Given the description of an element on the screen output the (x, y) to click on. 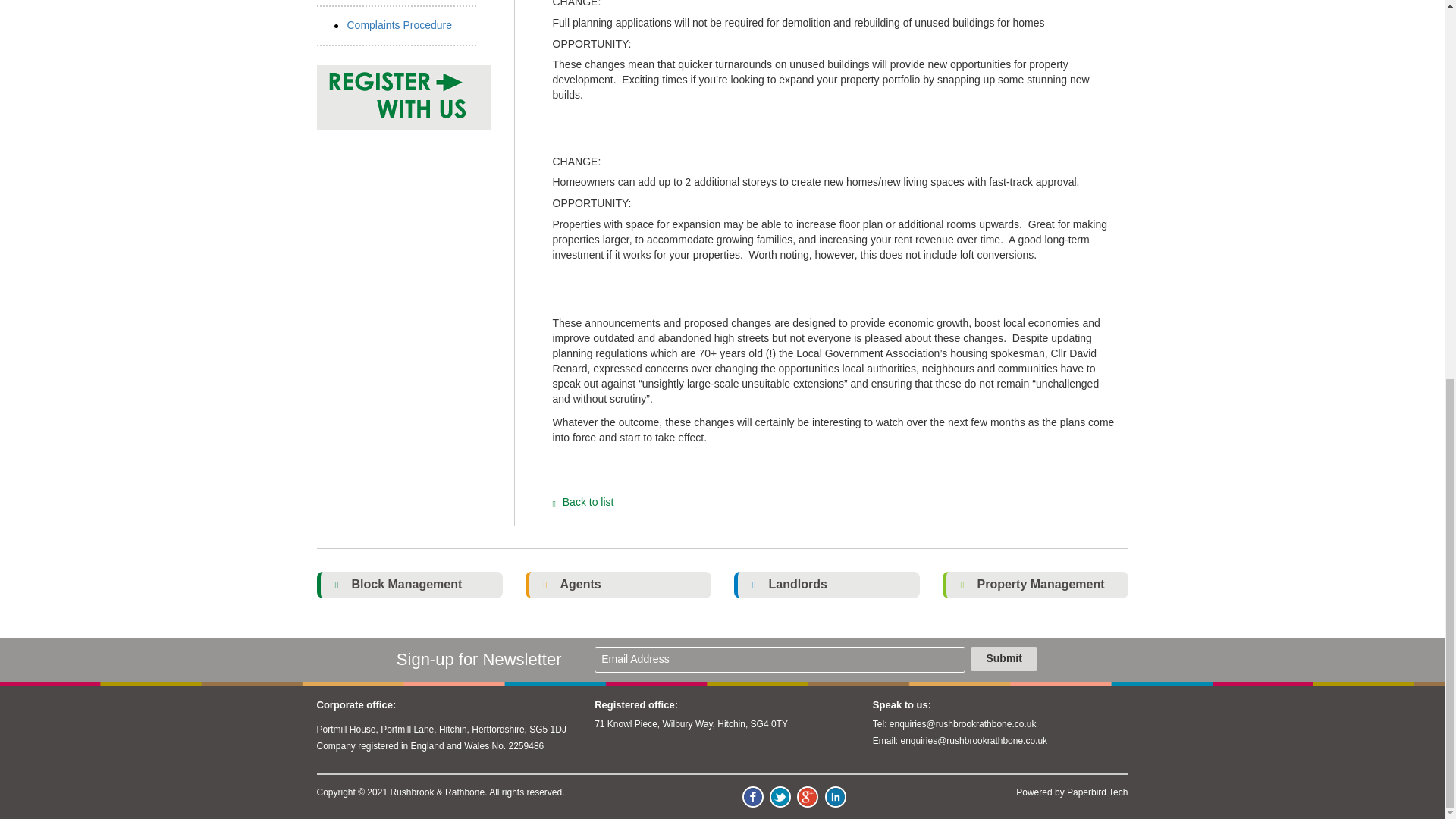
Client Money Security (396, 3)
Email Address (779, 659)
Submit (1003, 658)
Email Address (779, 659)
